Given the description of an element on the screen output the (x, y) to click on. 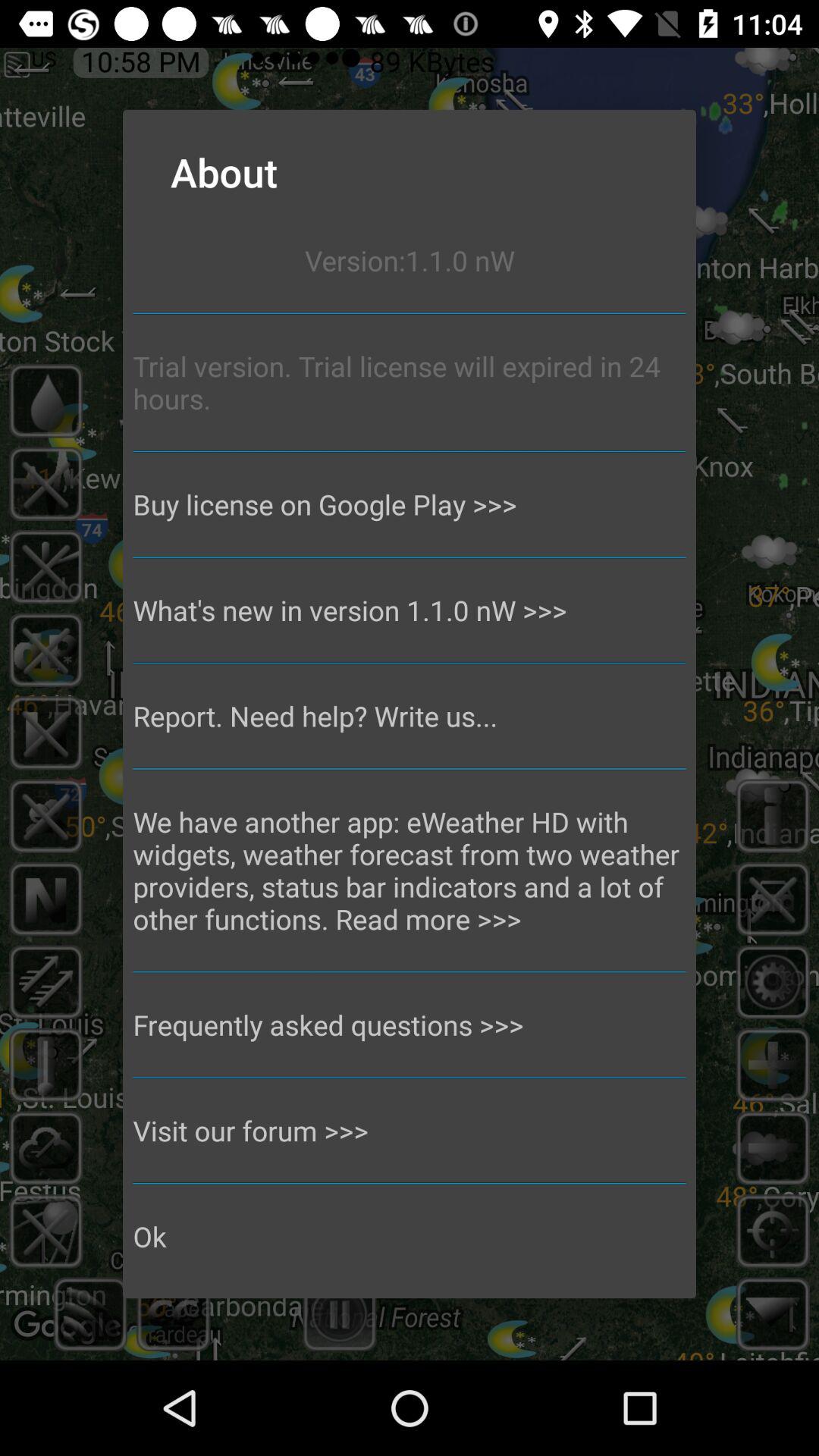
swipe until visit our forum >>> icon (409, 1130)
